Given the description of an element on the screen output the (x, y) to click on. 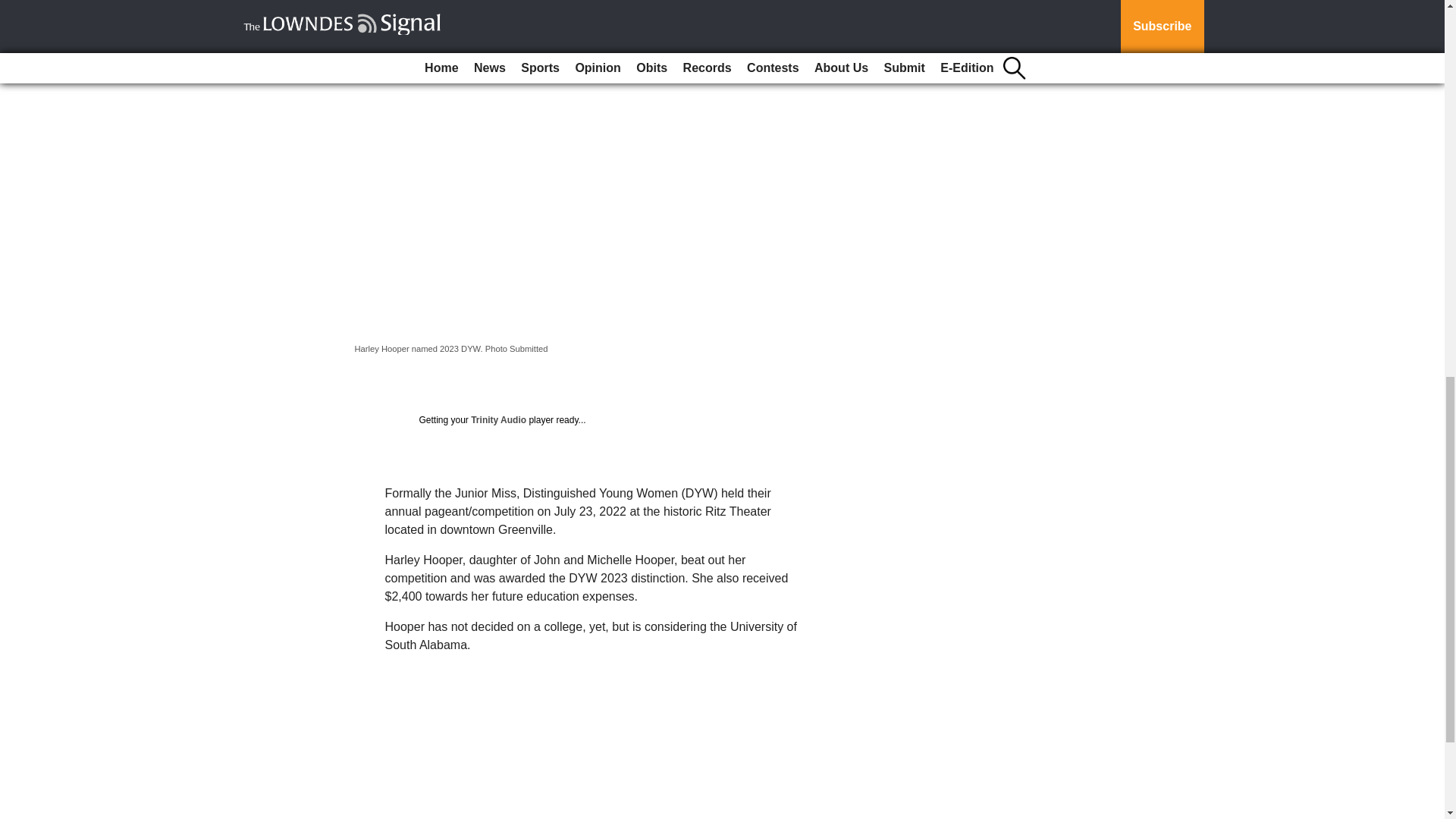
Trinity Audio (497, 419)
